Given the description of an element on the screen output the (x, y) to click on. 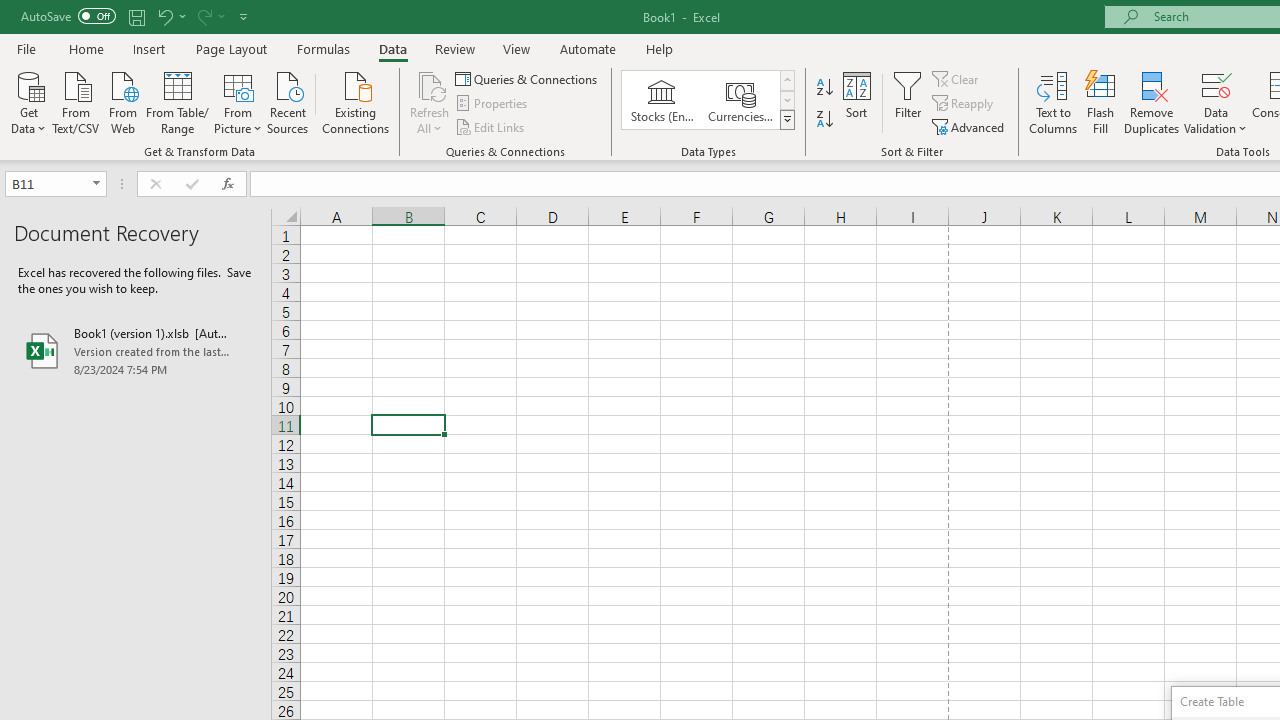
Row up (786, 79)
Sort Z to A (824, 119)
Advanced... (970, 126)
Data Validation... (1215, 102)
Class: NetUIImage (787, 119)
Reapply (964, 103)
Recent Sources (287, 101)
